Given the description of an element on the screen output the (x, y) to click on. 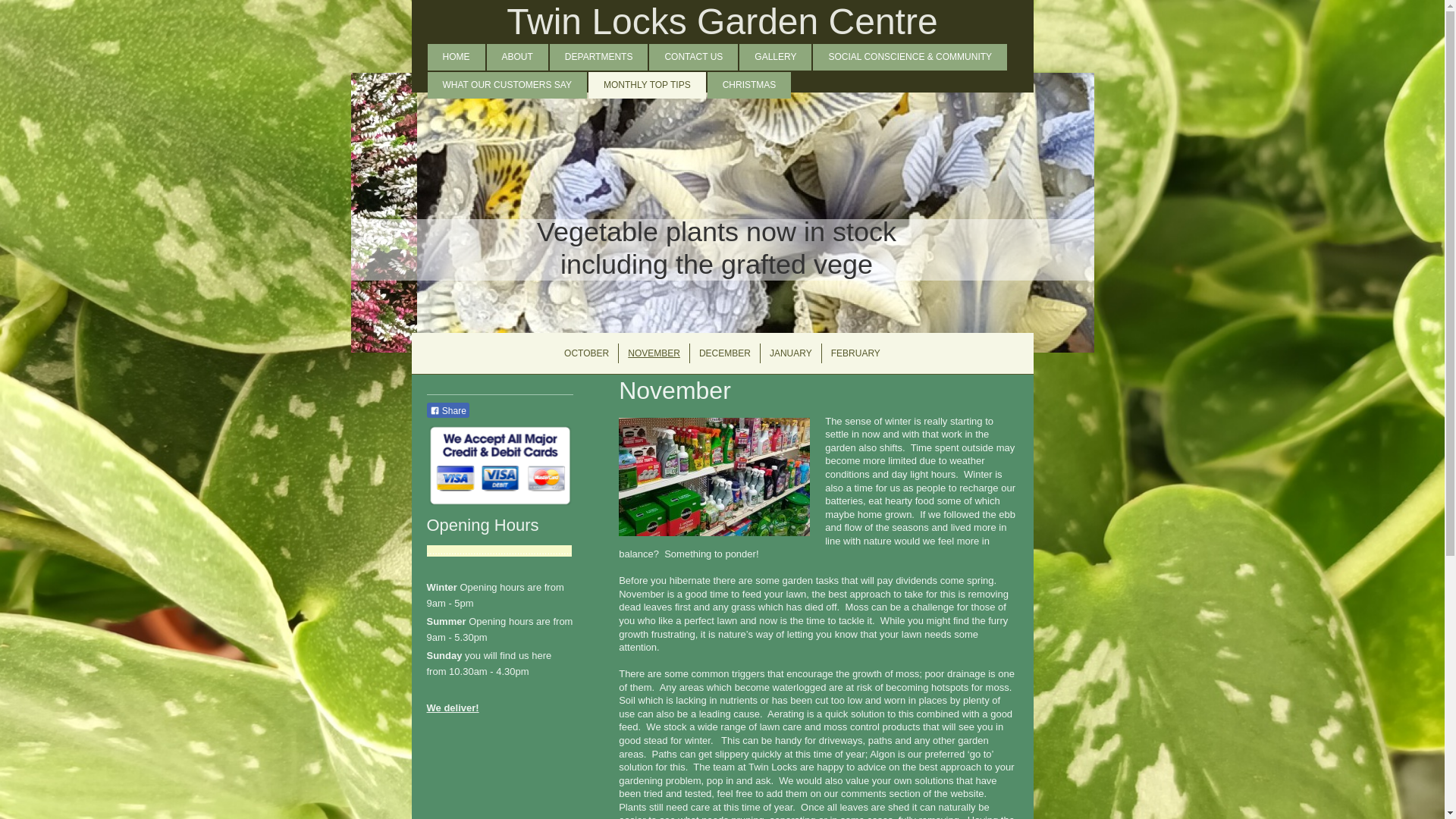
JANUARY (790, 352)
CHRISTMAS (749, 85)
DEPARTMENTS (598, 57)
Twin Locks Garden Centre (721, 21)
FEBRUARY (855, 352)
GALLERY (774, 57)
ABOUT (517, 57)
OCTOBER (585, 352)
HOME (456, 57)
DECEMBER (724, 352)
